Given the description of an element on the screen output the (x, y) to click on. 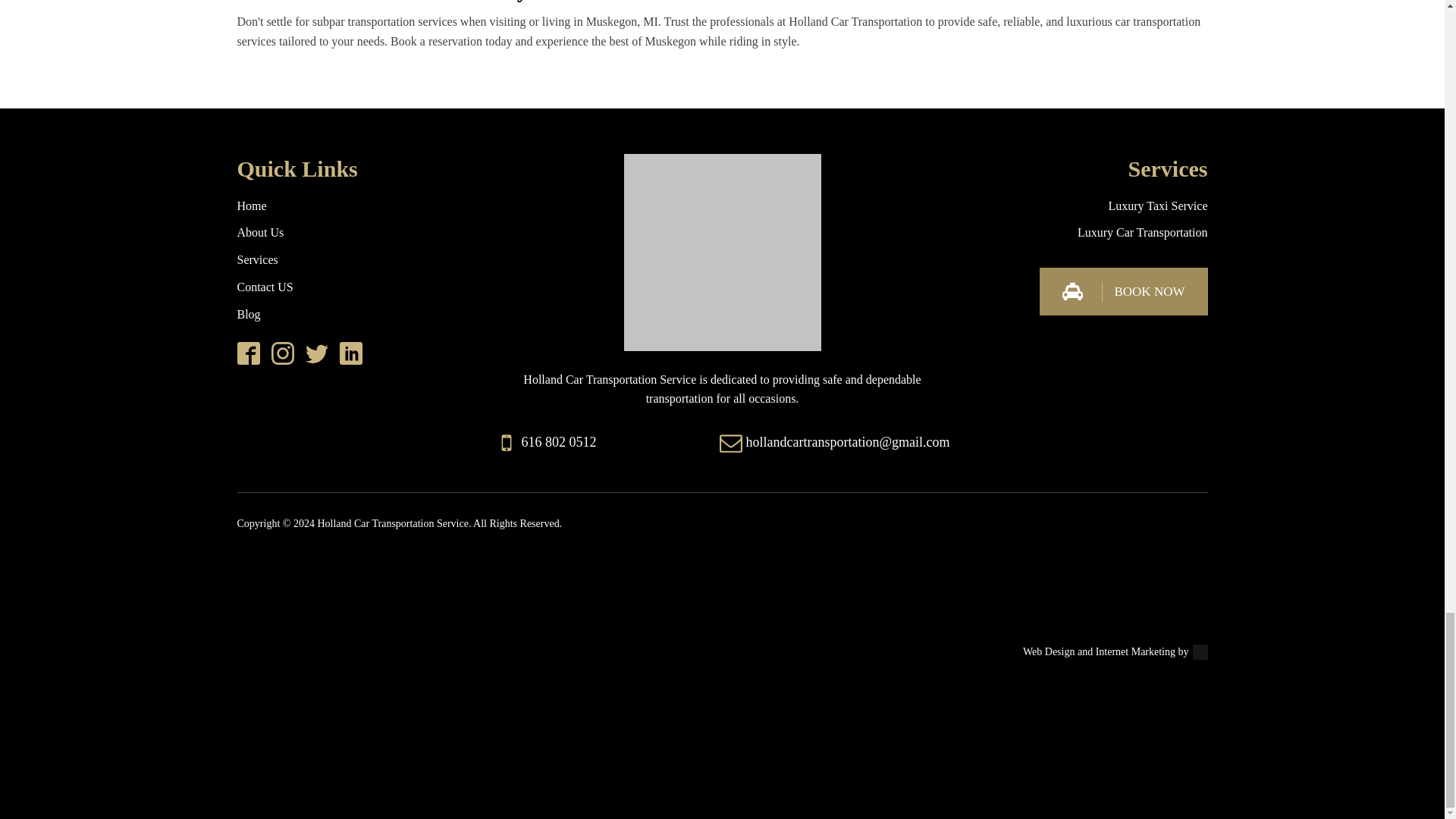
Luxury Car Transportation (1142, 232)
BOOK NOW (1123, 291)
616 802 0512 (558, 442)
Luxury Taxi Service (1158, 206)
About Us (259, 232)
Blog (247, 314)
Contact US (263, 287)
Home (250, 206)
Services (256, 260)
